Given the description of an element on the screen output the (x, y) to click on. 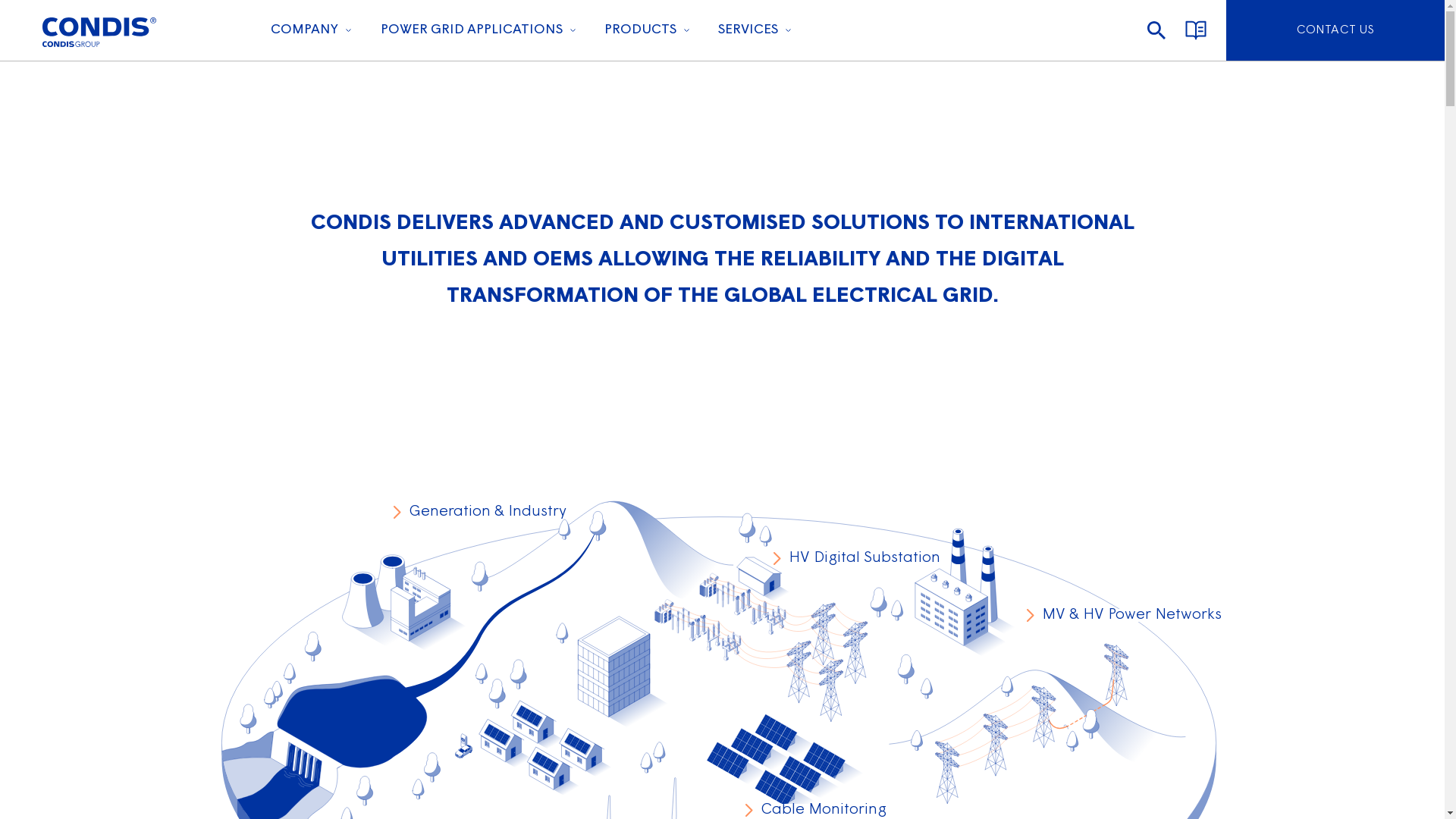
CONTACT US Element type: text (1335, 30)
